Given the description of an element on the screen output the (x, y) to click on. 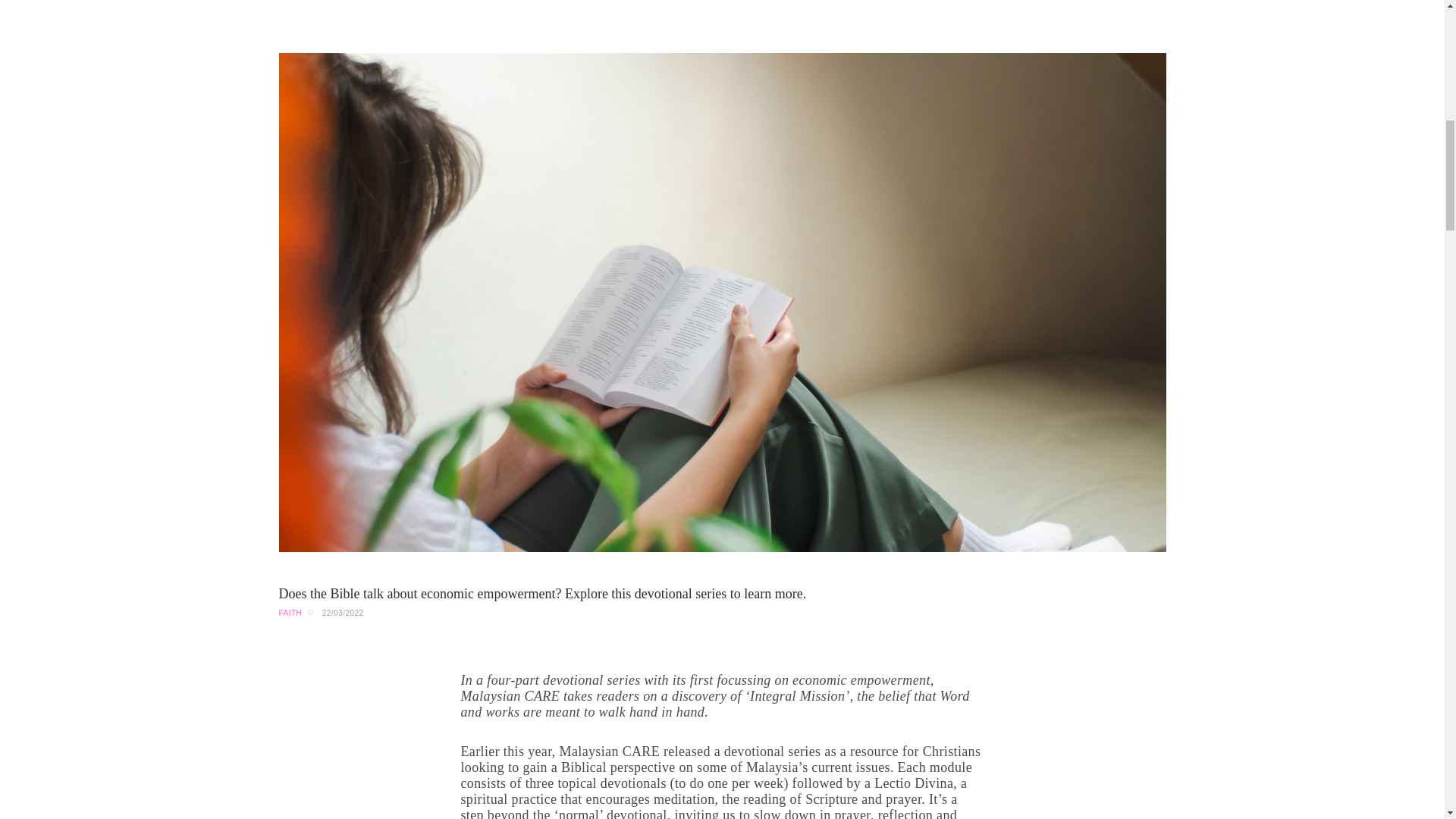
FAITH (290, 613)
